Given the description of an element on the screen output the (x, y) to click on. 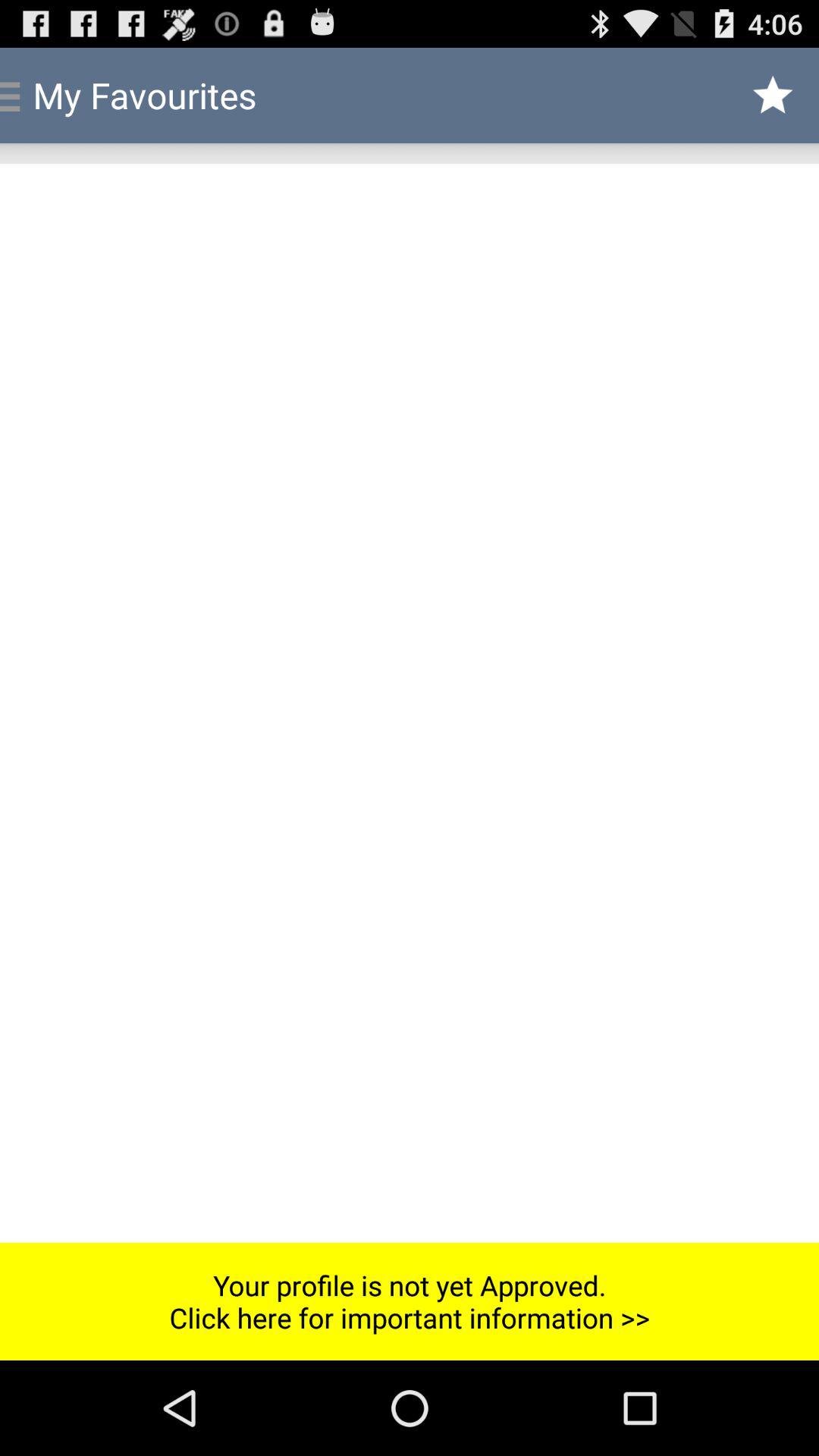
turn on your profile is icon (409, 1301)
